Given the description of an element on the screen output the (x, y) to click on. 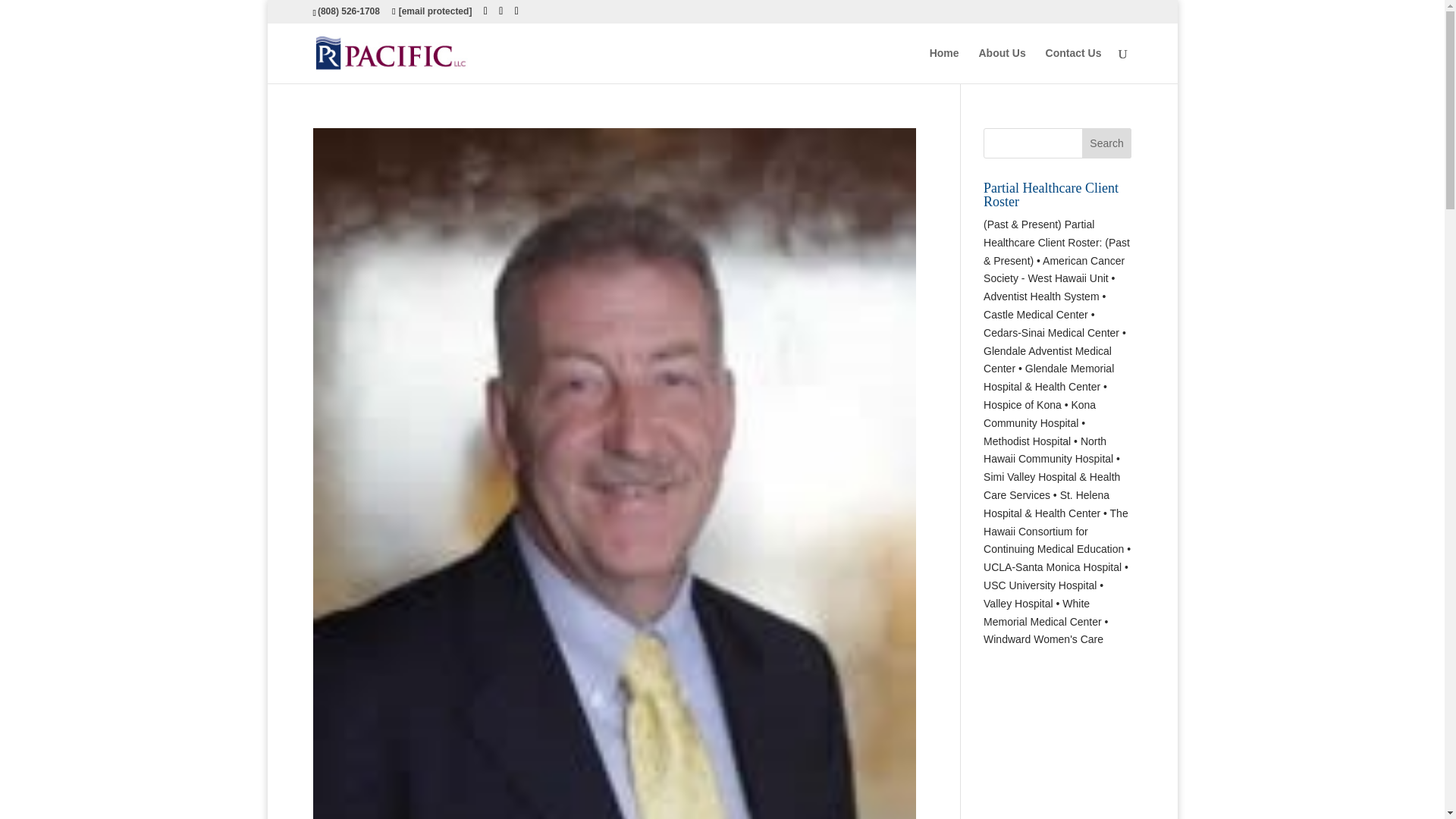
About Us (1001, 65)
Search (1106, 142)
Search (1106, 142)
Contact Us (1073, 65)
